Given the description of an element on the screen output the (x, y) to click on. 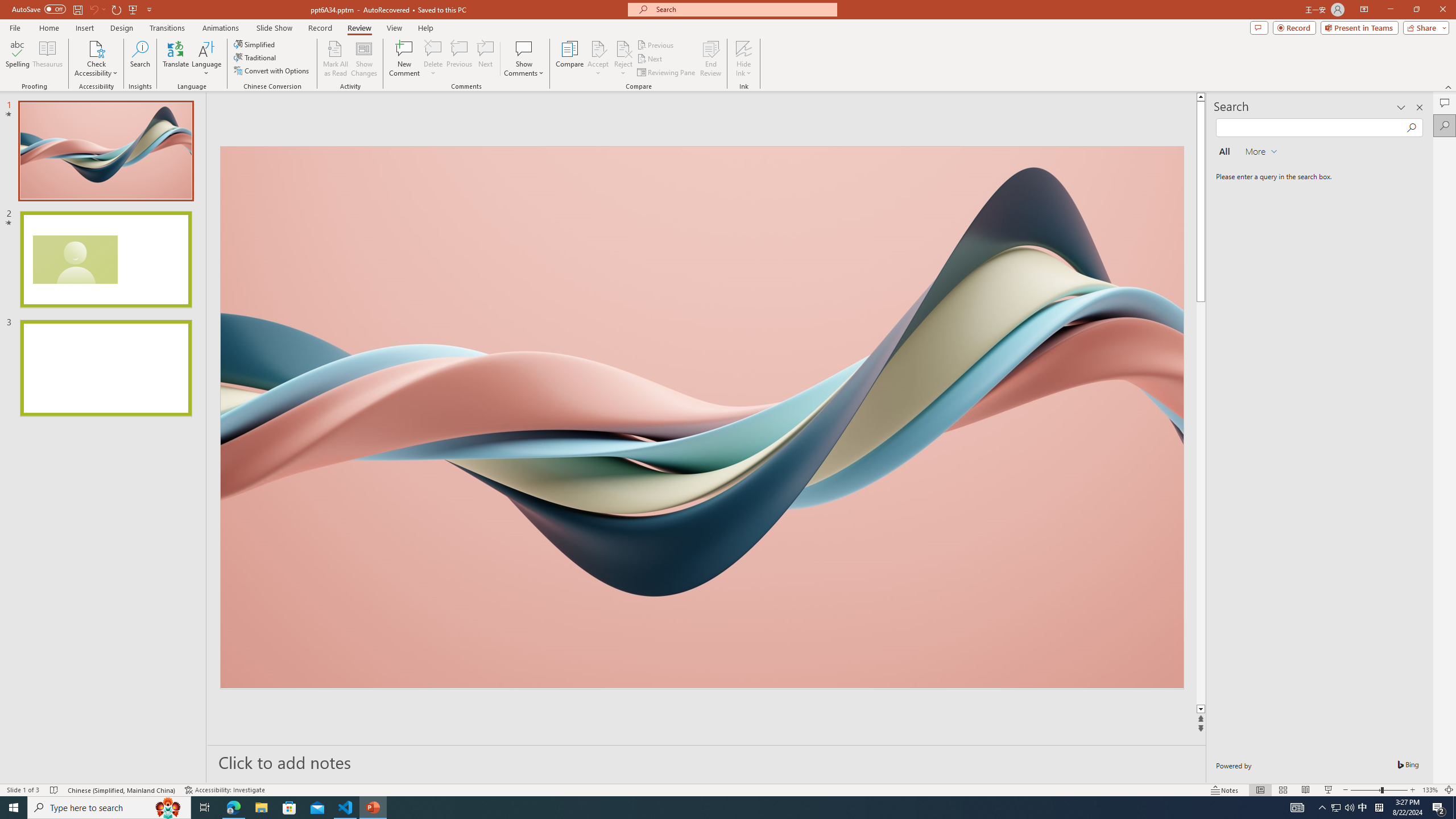
Language (206, 58)
Show Changes (363, 58)
Simplified (254, 44)
